Given the description of an element on the screen output the (x, y) to click on. 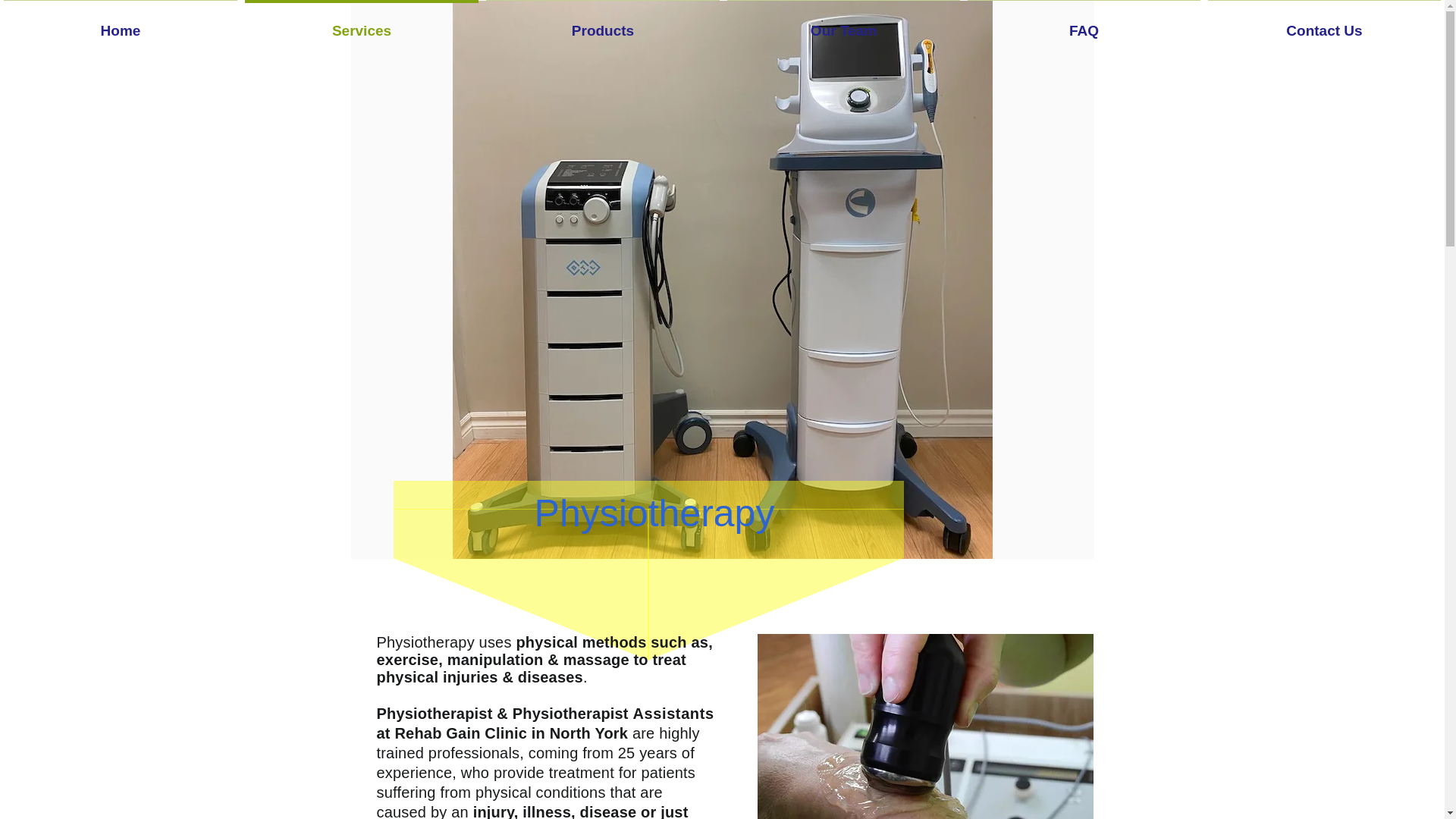
Home (120, 23)
FAQ (1083, 23)
Services (361, 23)
Products (602, 23)
Our Team (843, 23)
